Given the description of an element on the screen output the (x, y) to click on. 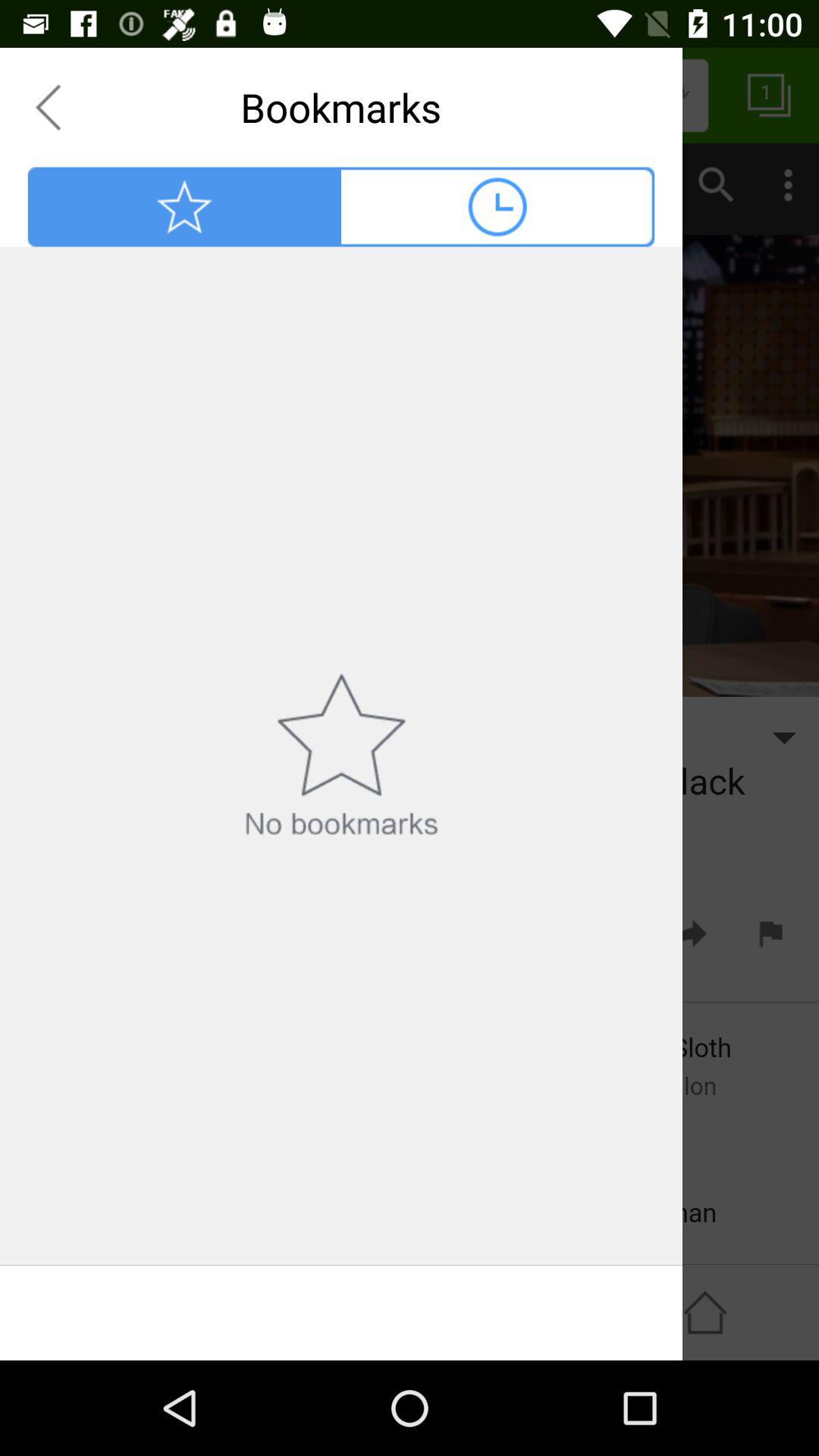
goes back (47, 107)
